Given the description of an element on the screen output the (x, y) to click on. 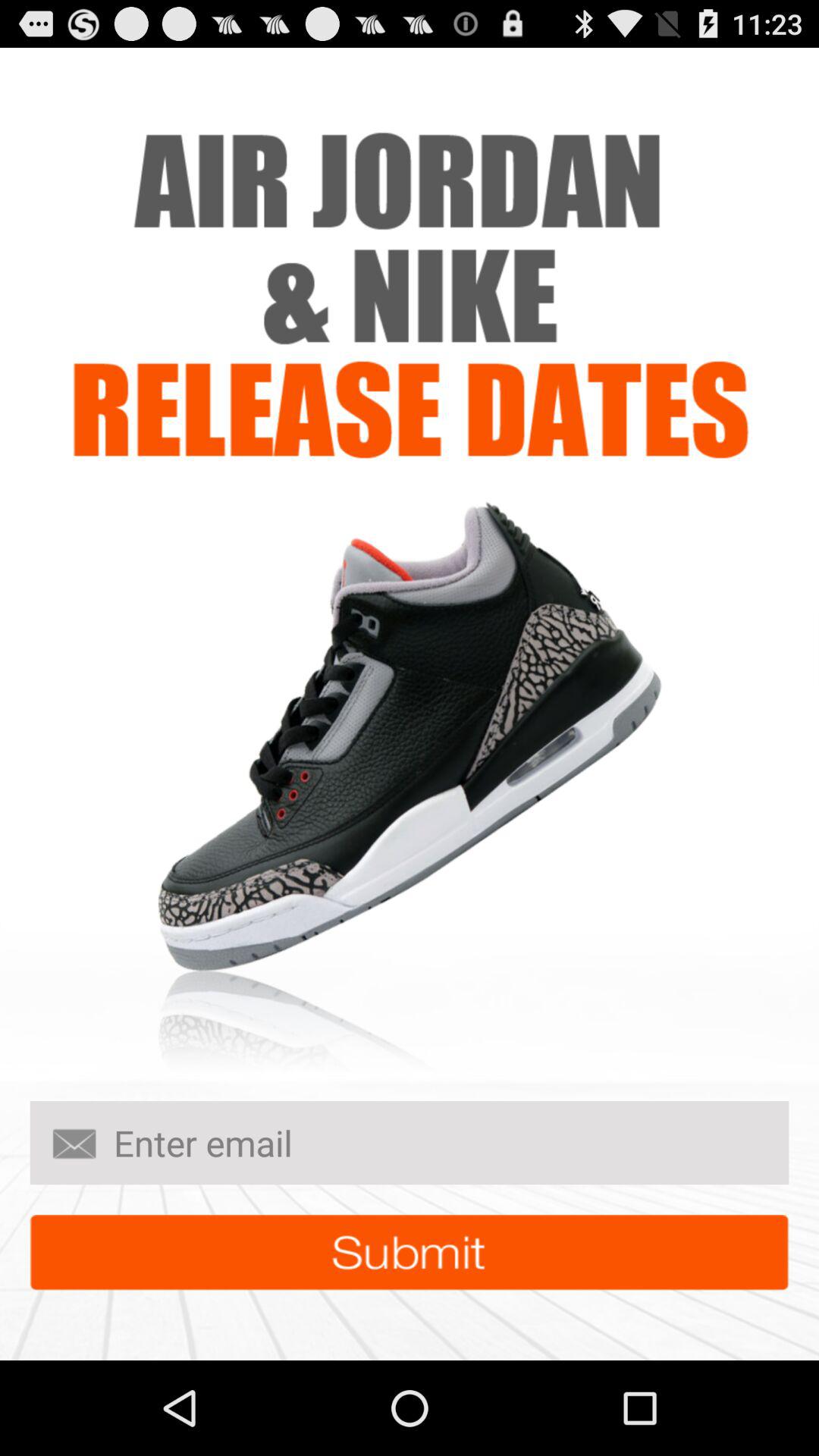
select the option (409, 1252)
